Given the description of an element on the screen output the (x, y) to click on. 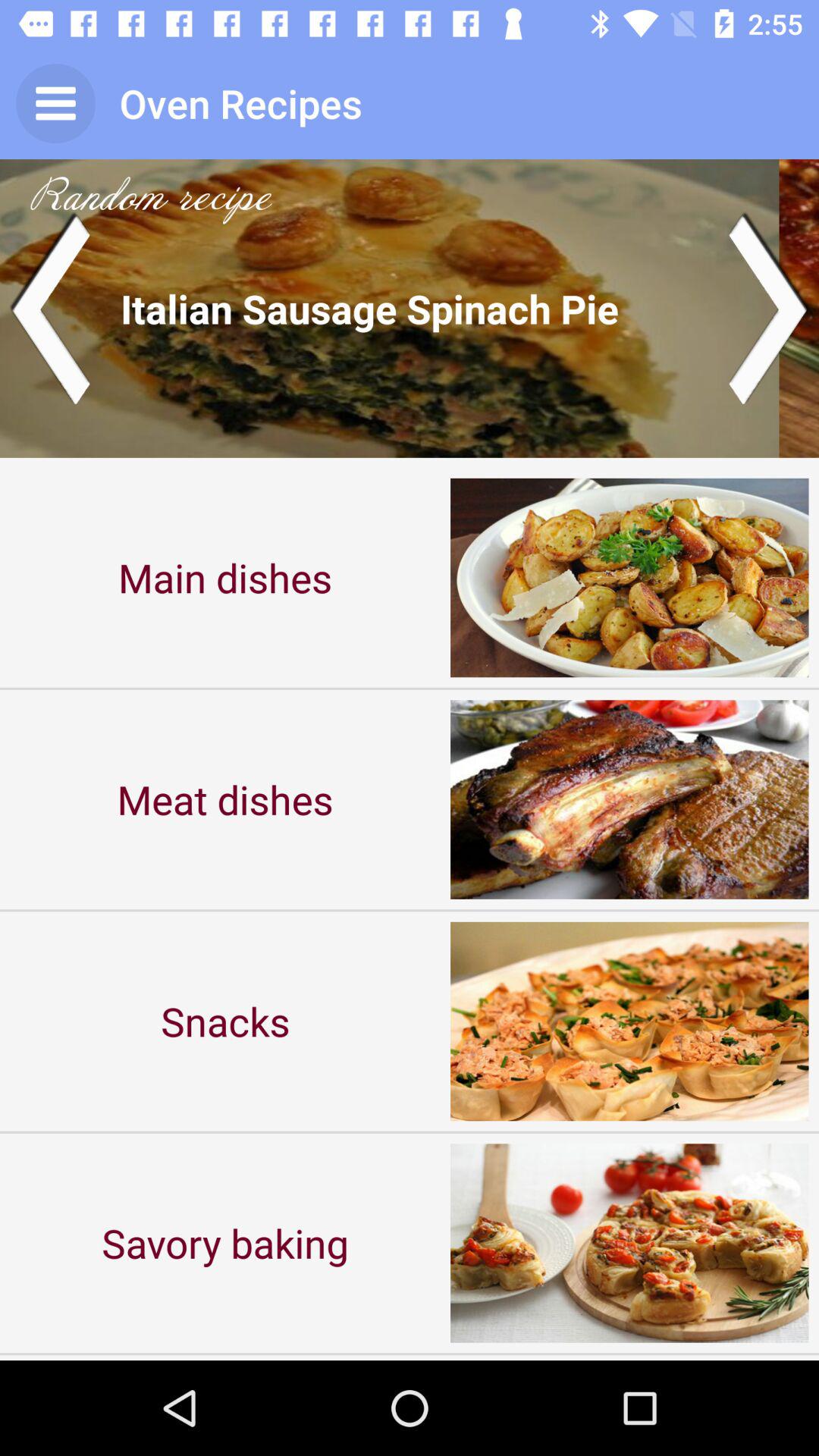
previous (49, 308)
